Given the description of an element on the screen output the (x, y) to click on. 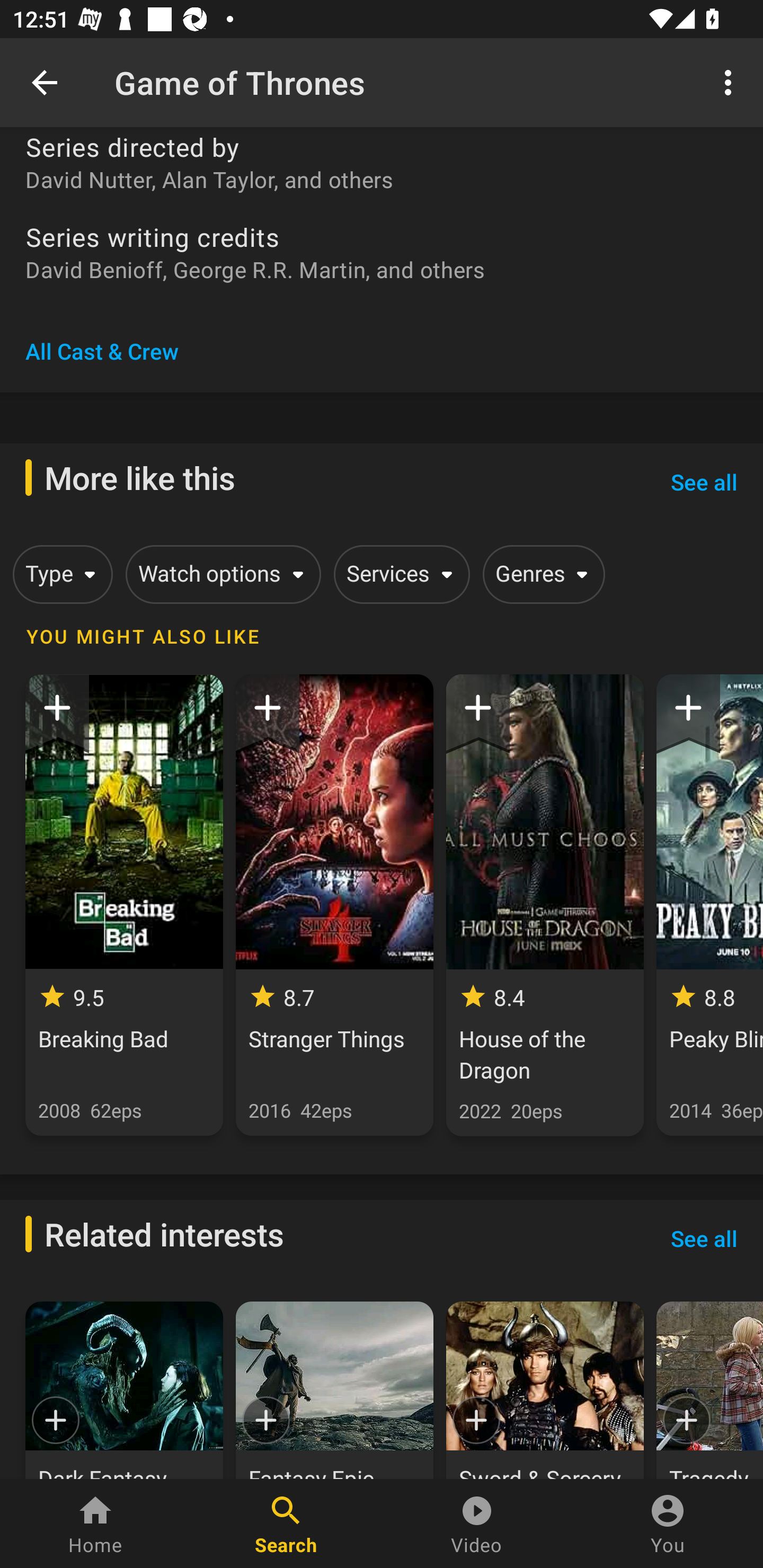
More options (731, 81)
David Nutter, Alan Taylor, and others (381, 179)
David Benioff, George R.R. Martin, and others (381, 268)
All Cast & Crew (101, 351)
See all See all More like this (703, 481)
Type (59, 574)
Watch options (219, 574)
Services (398, 574)
Genres (540, 574)
9.5 Breaking Bad 2008  62eps (123, 904)
8.7 Stranger Things 2016  42eps (334, 904)
8.4 House of the Dragon 2022  20eps (544, 905)
See all See all Related interests (703, 1238)
Dark Fantasy (123, 1389)
Fantasy Epic (334, 1389)
Sword & Sorcery (544, 1389)
Home (95, 1523)
Video (476, 1523)
You (667, 1523)
